Given the description of an element on the screen output the (x, y) to click on. 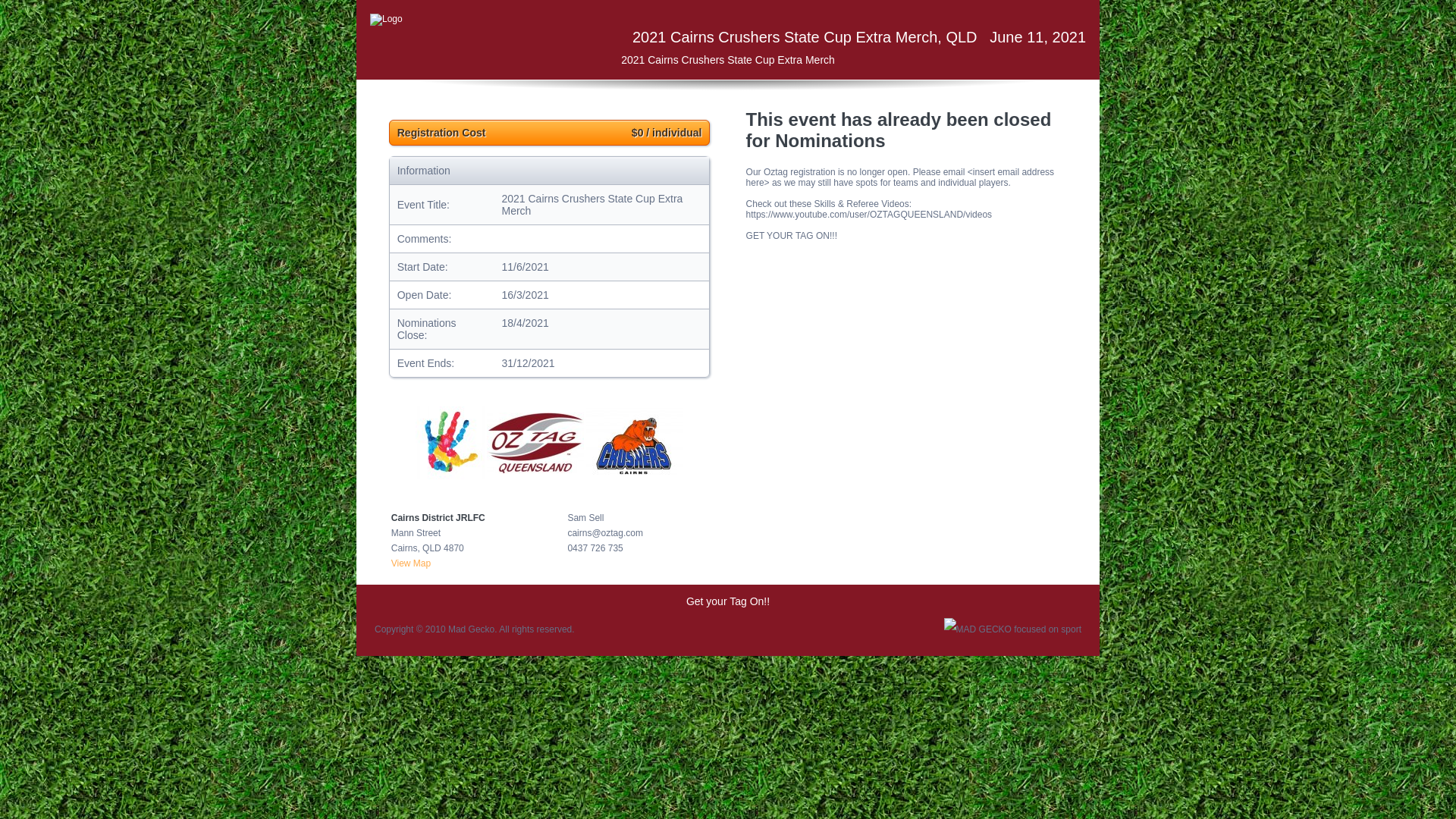
View Map Element type: text (410, 563)
